Given the description of an element on the screen output the (x, y) to click on. 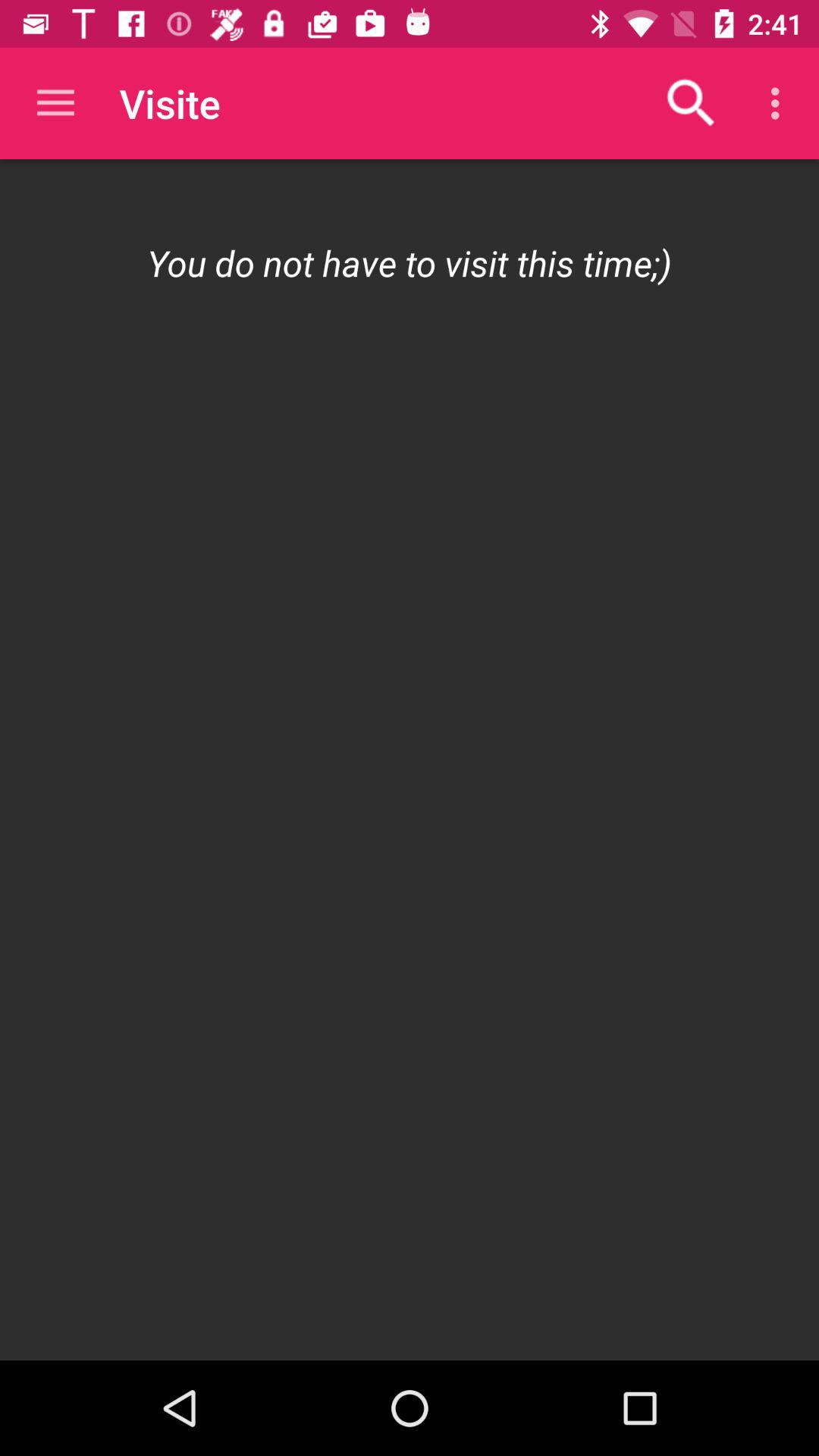
click the icon to the left of the visite app (55, 103)
